Given the description of an element on the screen output the (x, y) to click on. 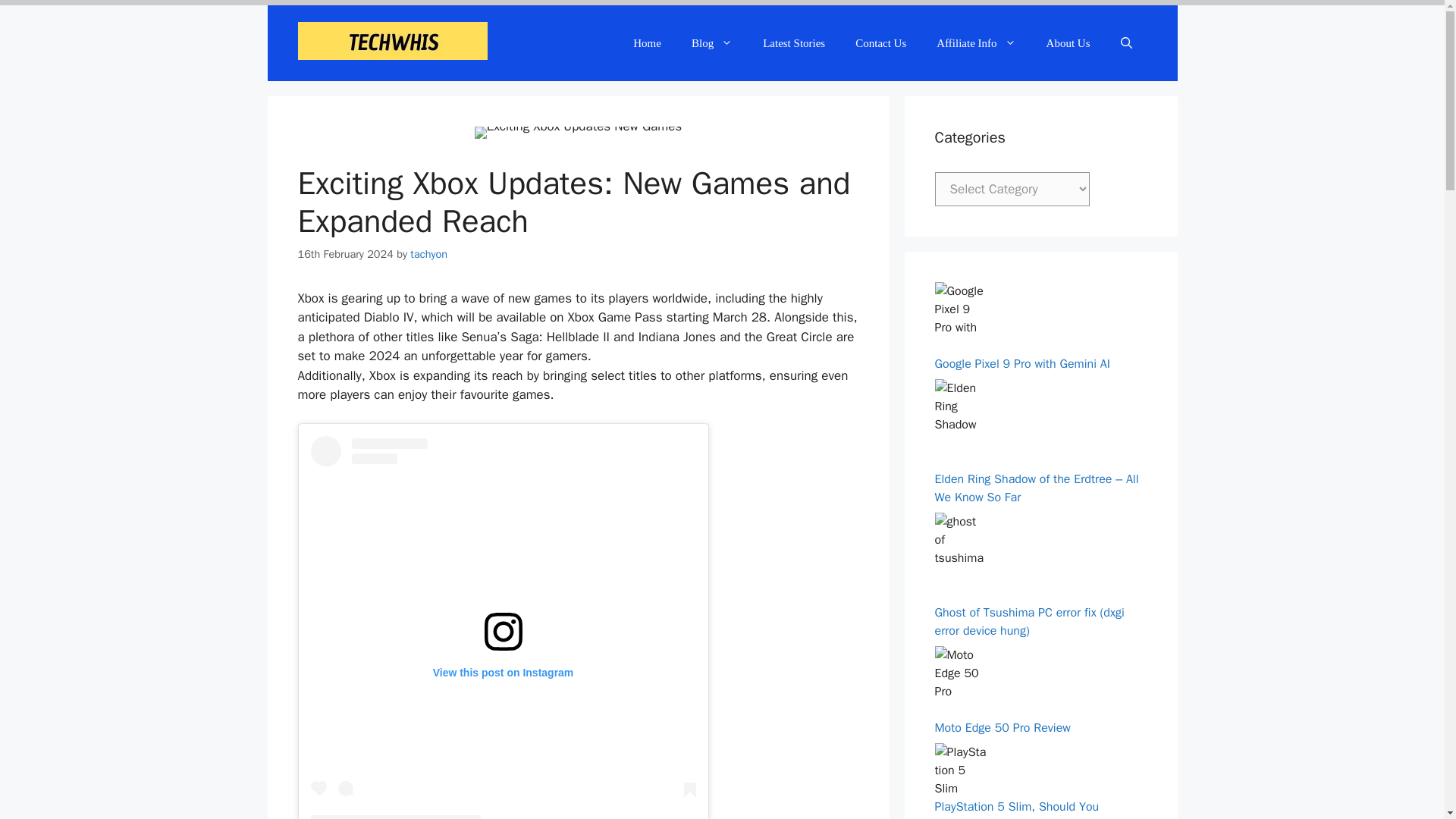
About Us (1067, 43)
Affiliate Info (975, 43)
Latest Stories (794, 43)
Blog (712, 43)
Contact Us (880, 43)
Home (647, 43)
View all posts by tachyon (428, 254)
